Given the description of an element on the screen output the (x, y) to click on. 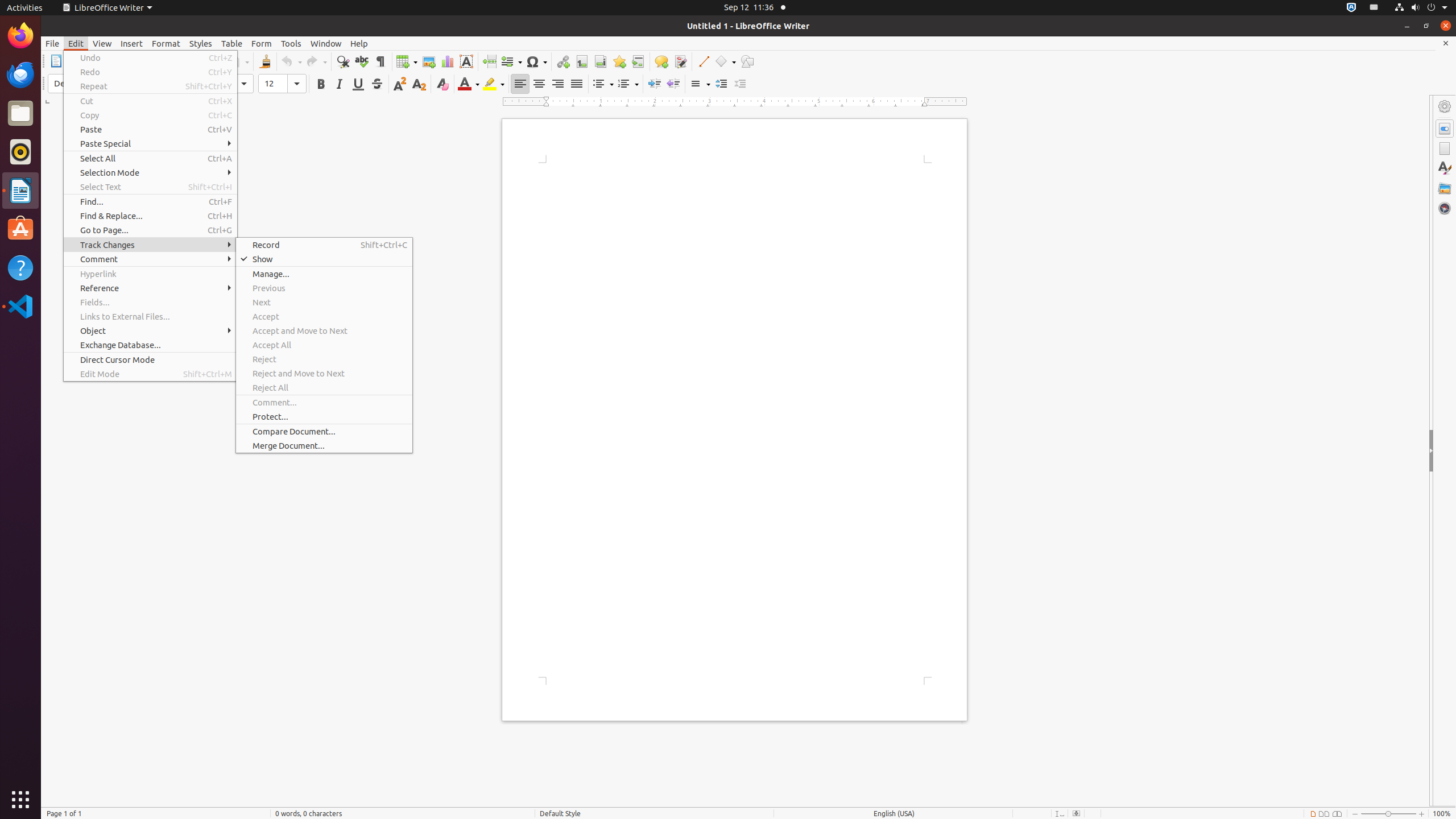
Accept All Element type: menu-item (324, 344)
Redo Element type: menu-item (150, 71)
